Given the description of an element on the screen output the (x, y) to click on. 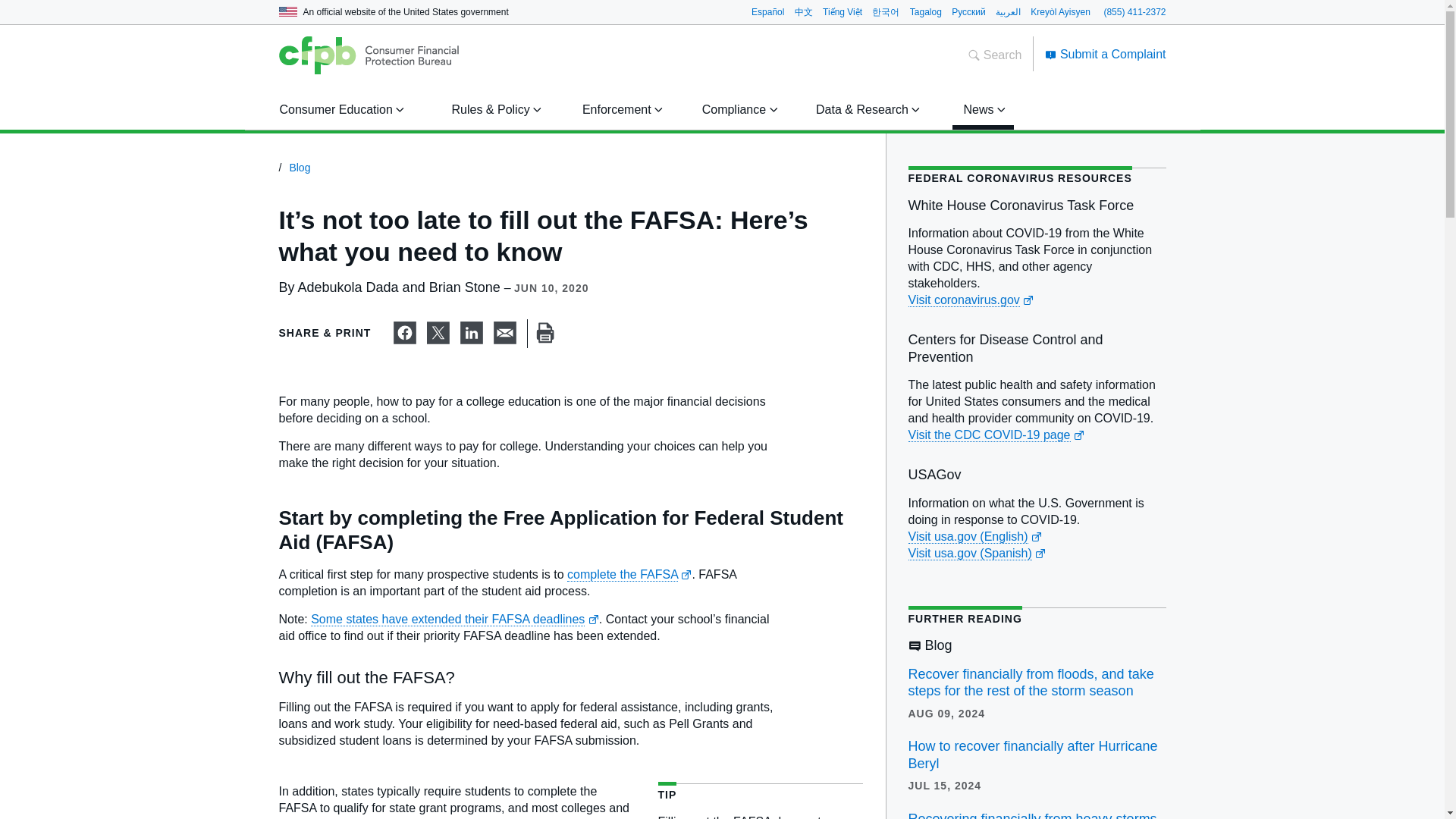
Consumer Education (339, 109)
Tagalog (926, 10)
Search (995, 54)
Submit a Complaint (1105, 52)
